Given the description of an element on the screen output the (x, y) to click on. 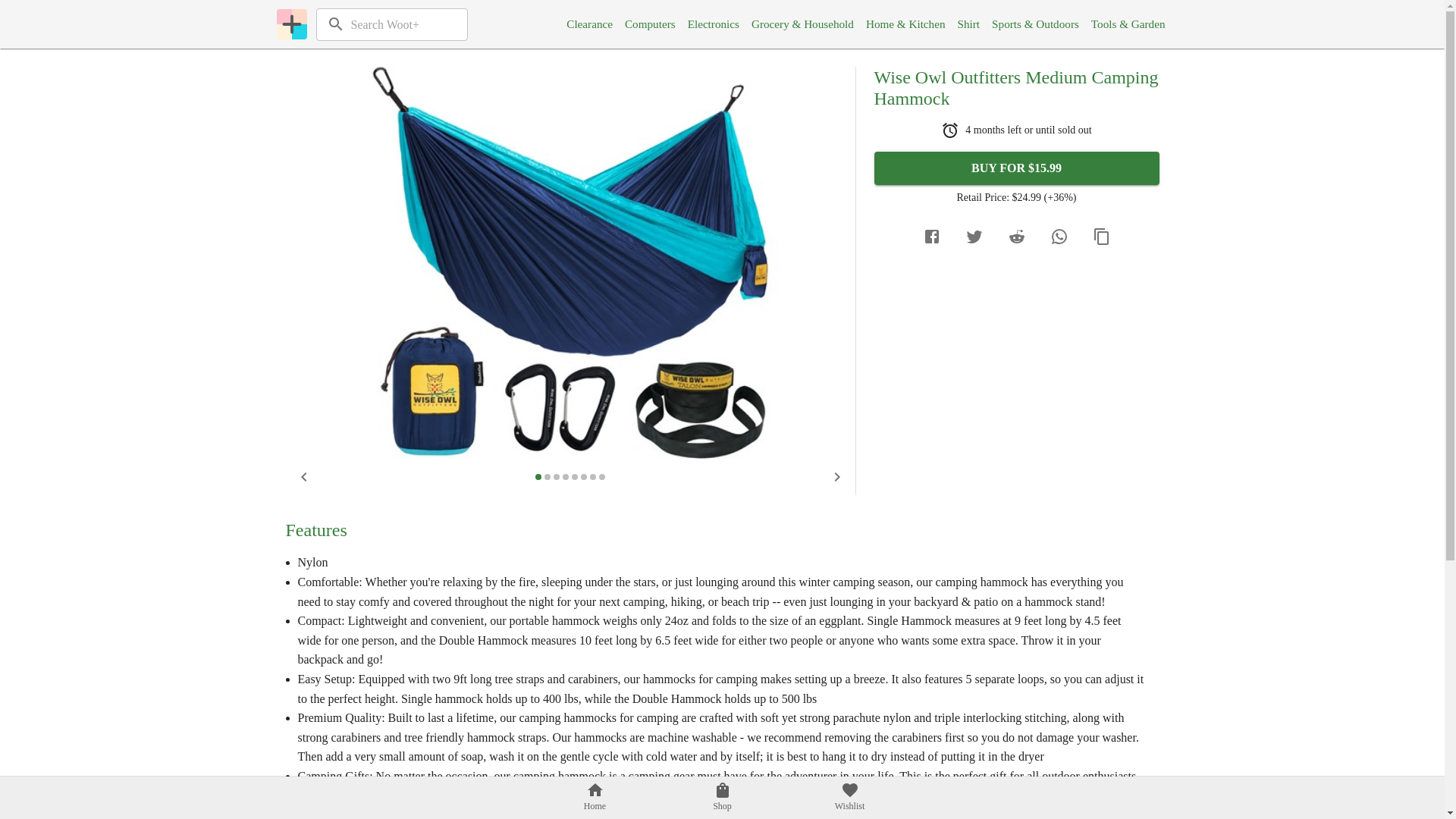
Shirt (968, 24)
Electronics (713, 24)
Wishlist (849, 797)
Home (594, 797)
Computers (649, 24)
Clearance (589, 24)
Shop (722, 797)
